Given the description of an element on the screen output the (x, y) to click on. 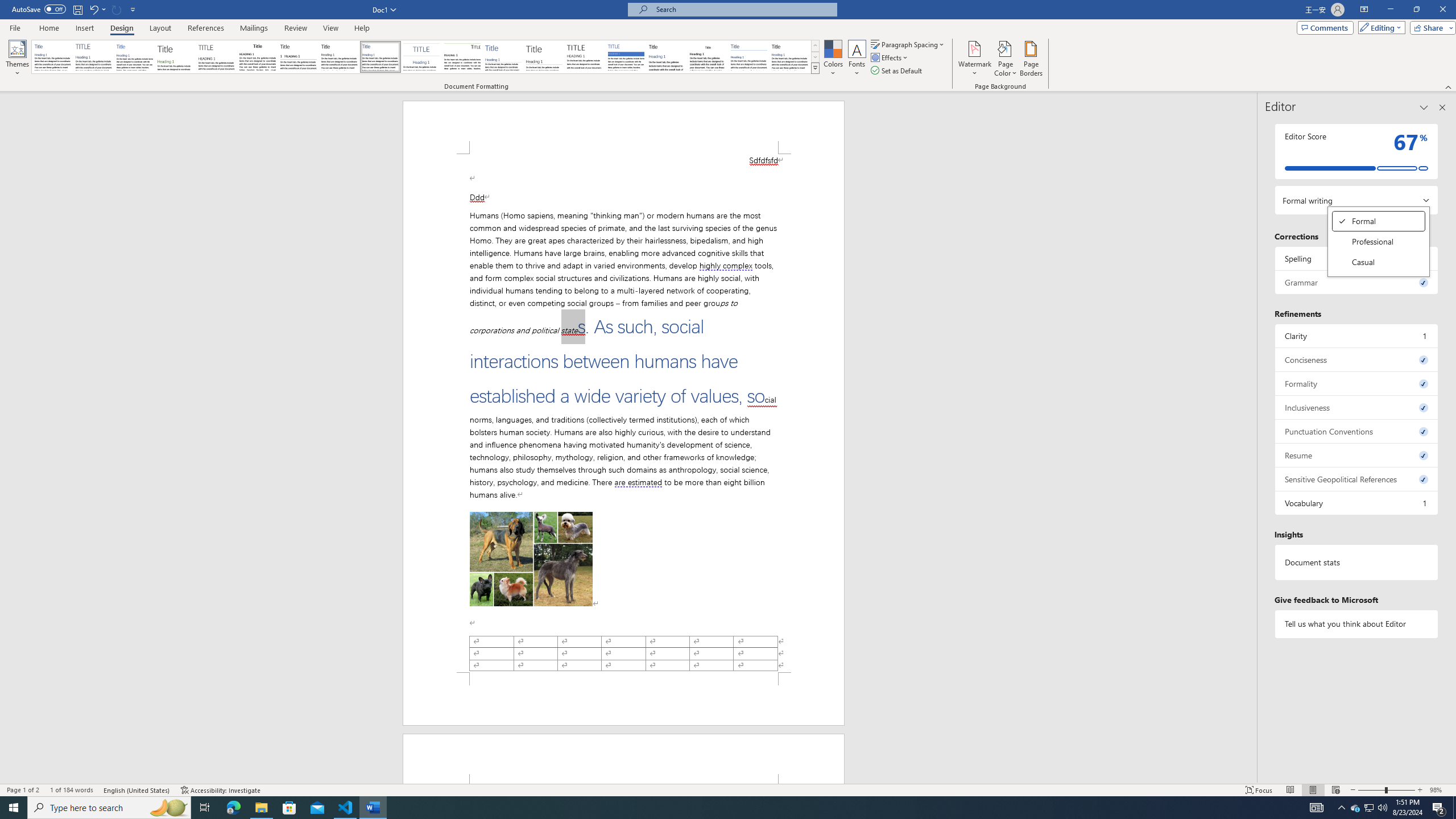
Can't Repeat (117, 9)
Page 1 content (623, 412)
Word (666, 56)
Effects (890, 56)
Lines (Simple) (503, 56)
Basic (Stylish) (175, 56)
